Given the description of an element on the screen output the (x, y) to click on. 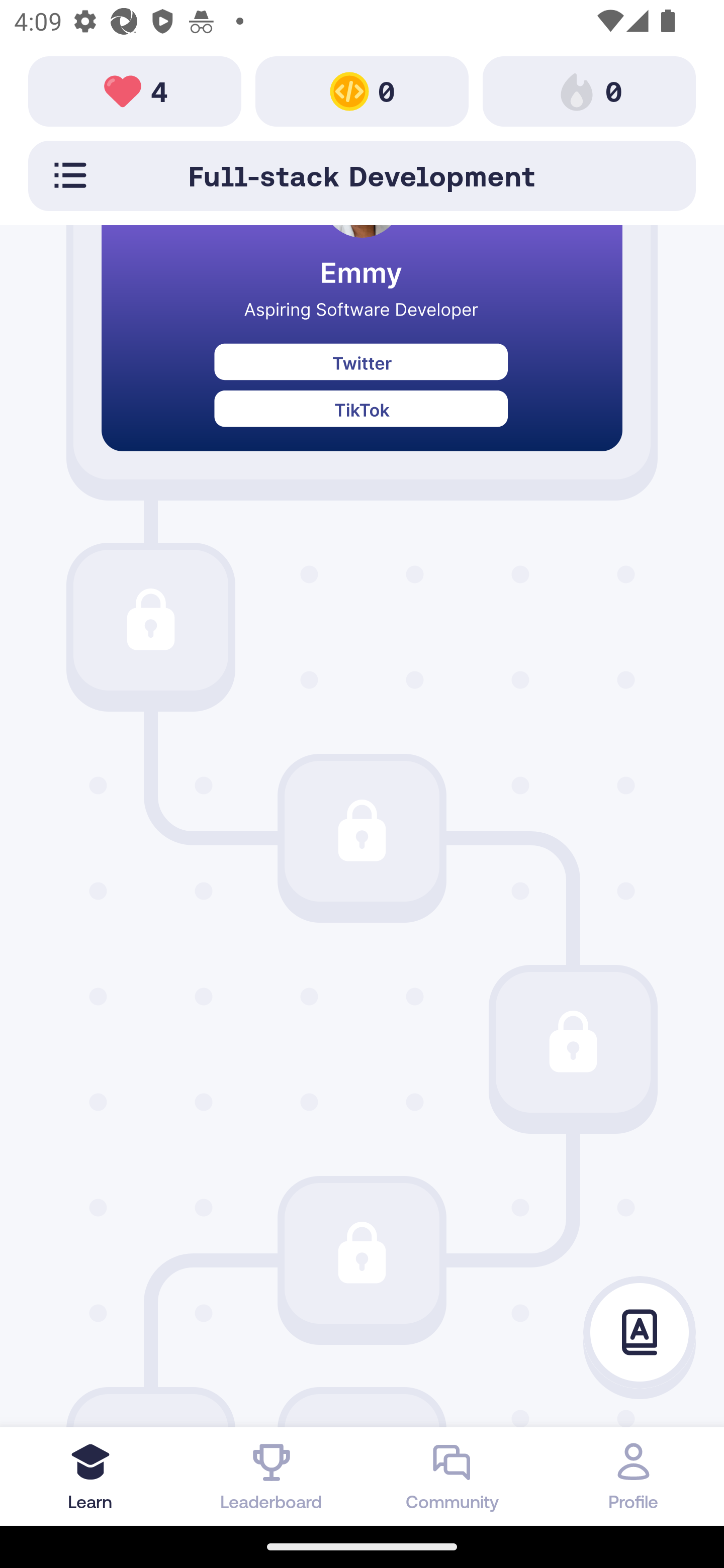
Path Toolbar Image 4 (134, 90)
Path Toolbar Image 0 (361, 90)
Path Toolbar Image 0 (588, 90)
Path Toolbar Selector Full-stack Development (361, 175)
preview image (361, 352)
Path Icon (150, 619)
Path Icon (361, 830)
Path Icon (572, 1042)
Path Icon (361, 1252)
Glossary Icon (639, 1332)
Leaderboard (271, 1475)
Community (452, 1475)
Profile (633, 1475)
